Given the description of an element on the screen output the (x, y) to click on. 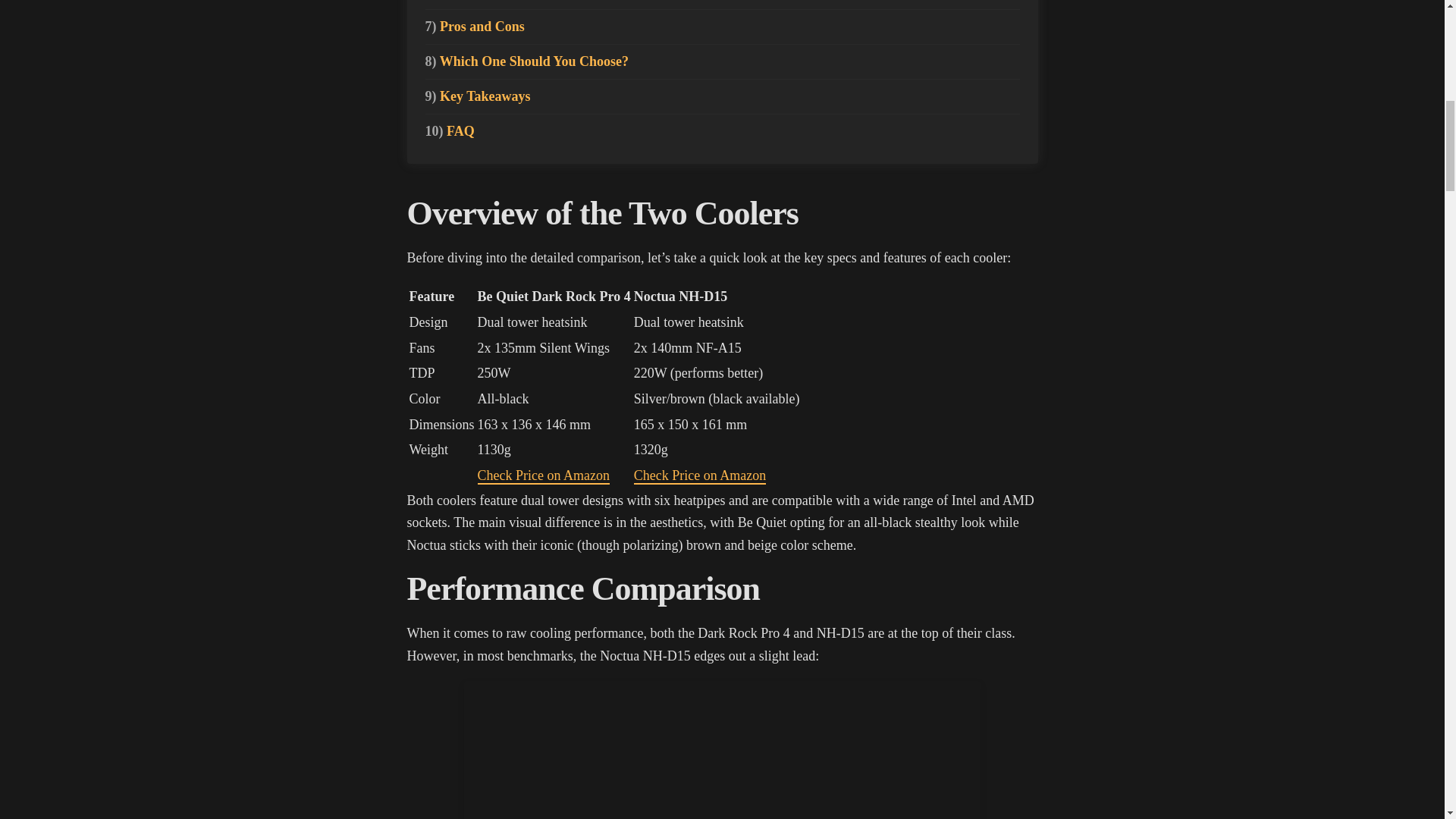
Pros and Cons (474, 26)
